Given the description of an element on the screen output the (x, y) to click on. 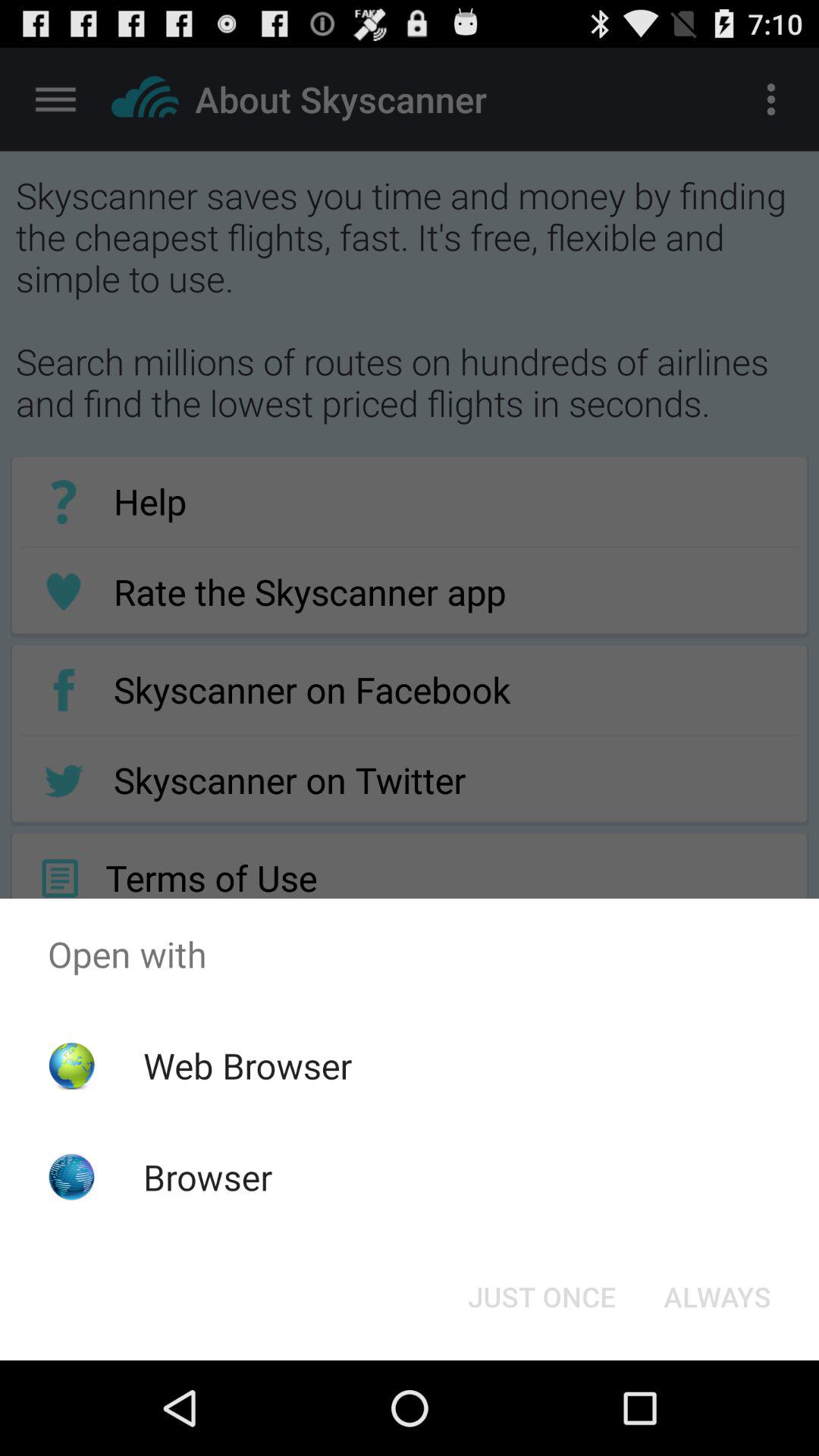
turn off the just once item (541, 1296)
